Given the description of an element on the screen output the (x, y) to click on. 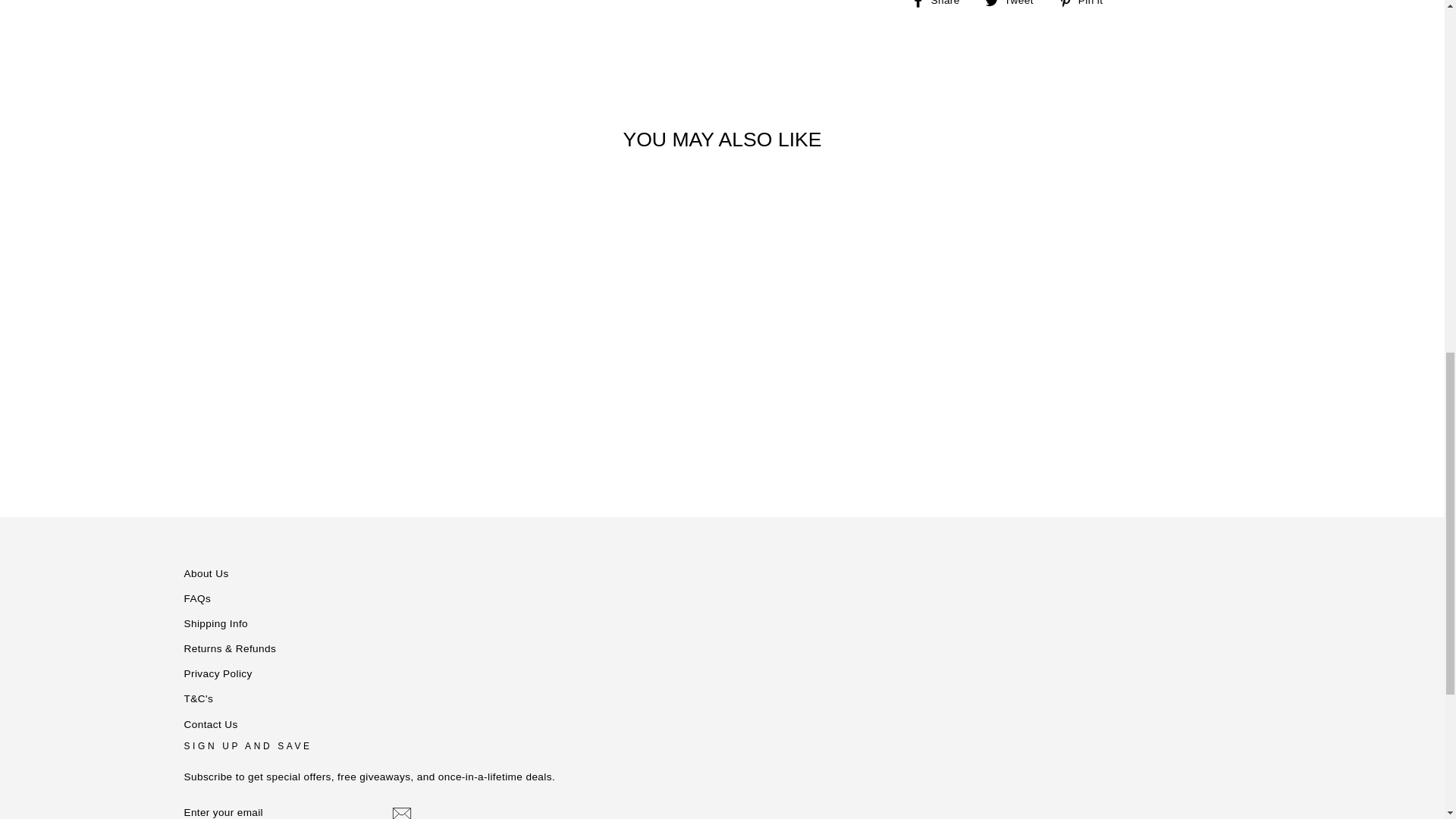
Share on Facebook (941, 4)
Pin on Pinterest (1085, 4)
Tweet on Twitter (1015, 4)
